Given the description of an element on the screen output the (x, y) to click on. 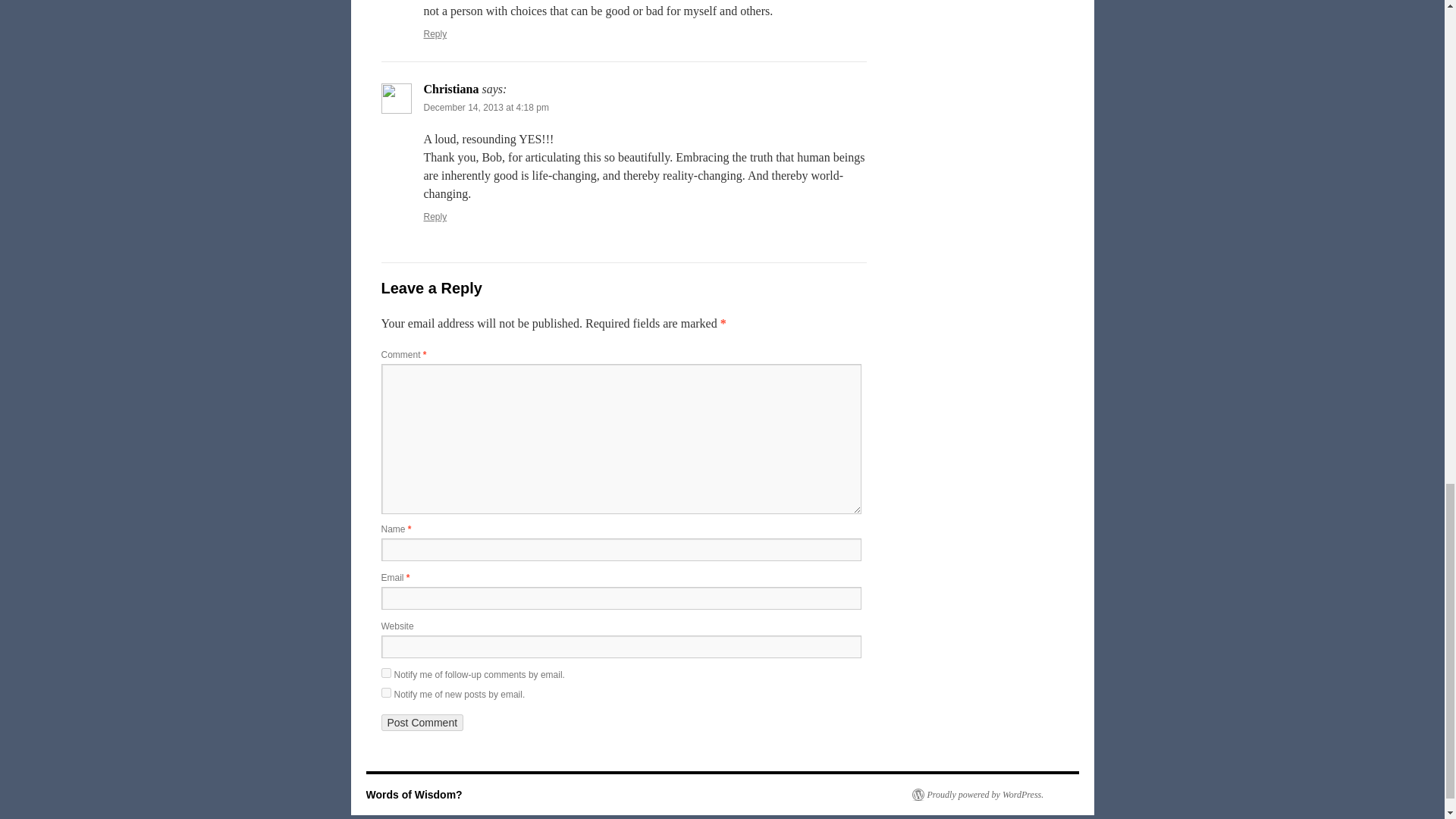
Reply (434, 216)
December 14, 2013 at 4:18 pm (485, 107)
Post Comment (421, 722)
Reply (434, 33)
subscribe (385, 692)
subscribe (385, 673)
Post Comment (421, 722)
